Given the description of an element on the screen output the (x, y) to click on. 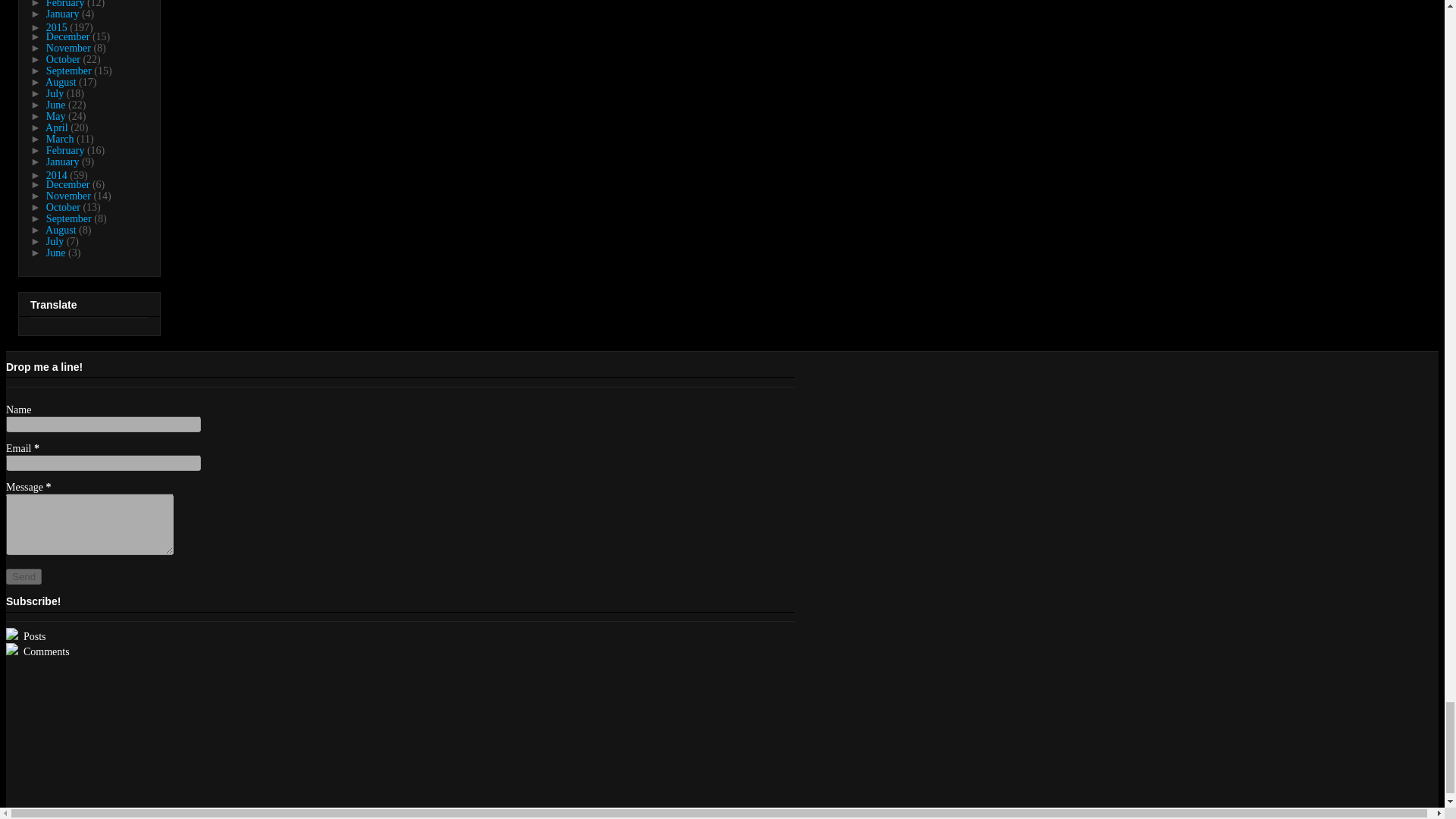
Send (23, 576)
